Given the description of an element on the screen output the (x, y) to click on. 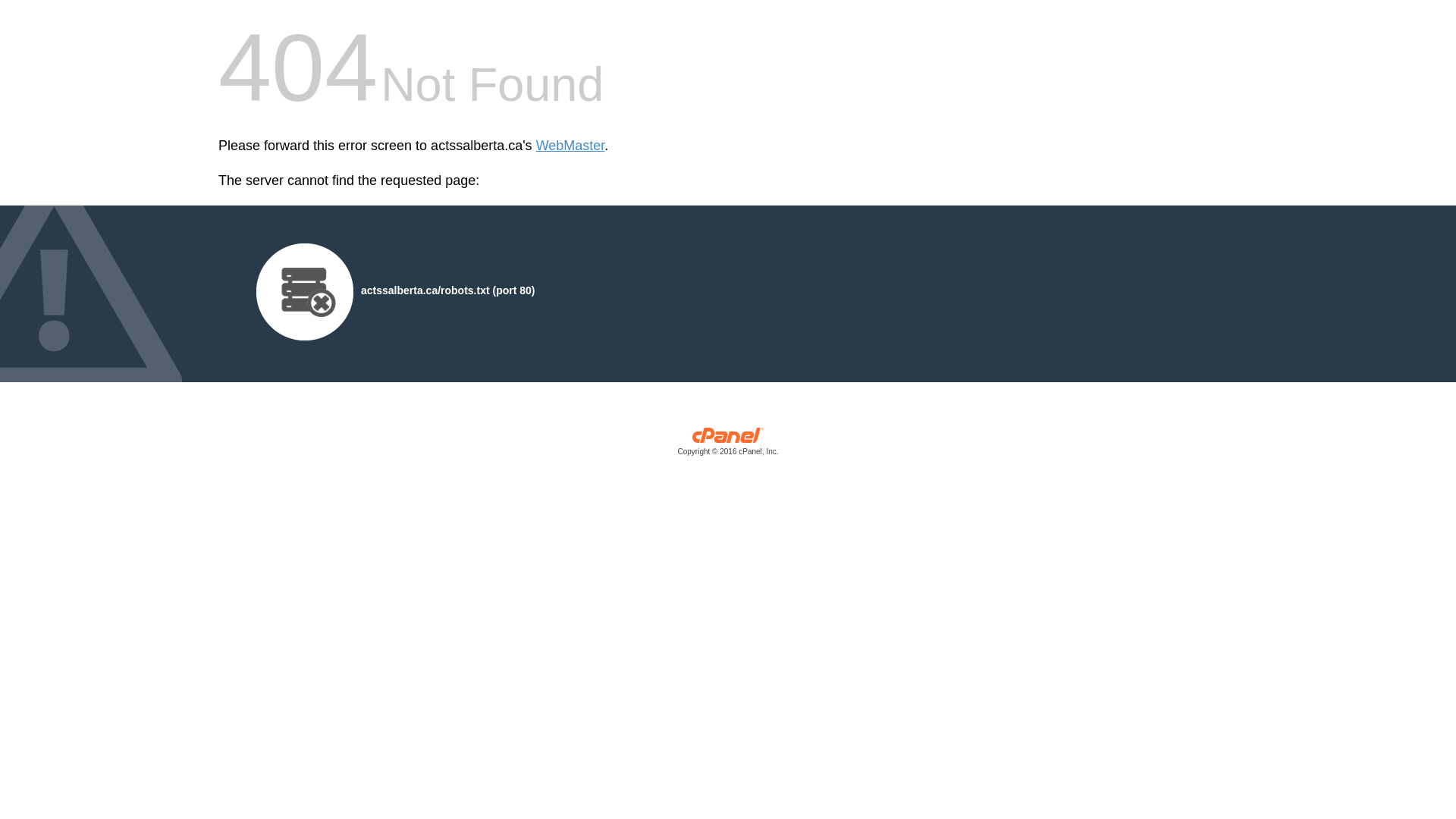
WebMaster Element type: text (570, 145)
